Given the description of an element on the screen output the (x, y) to click on. 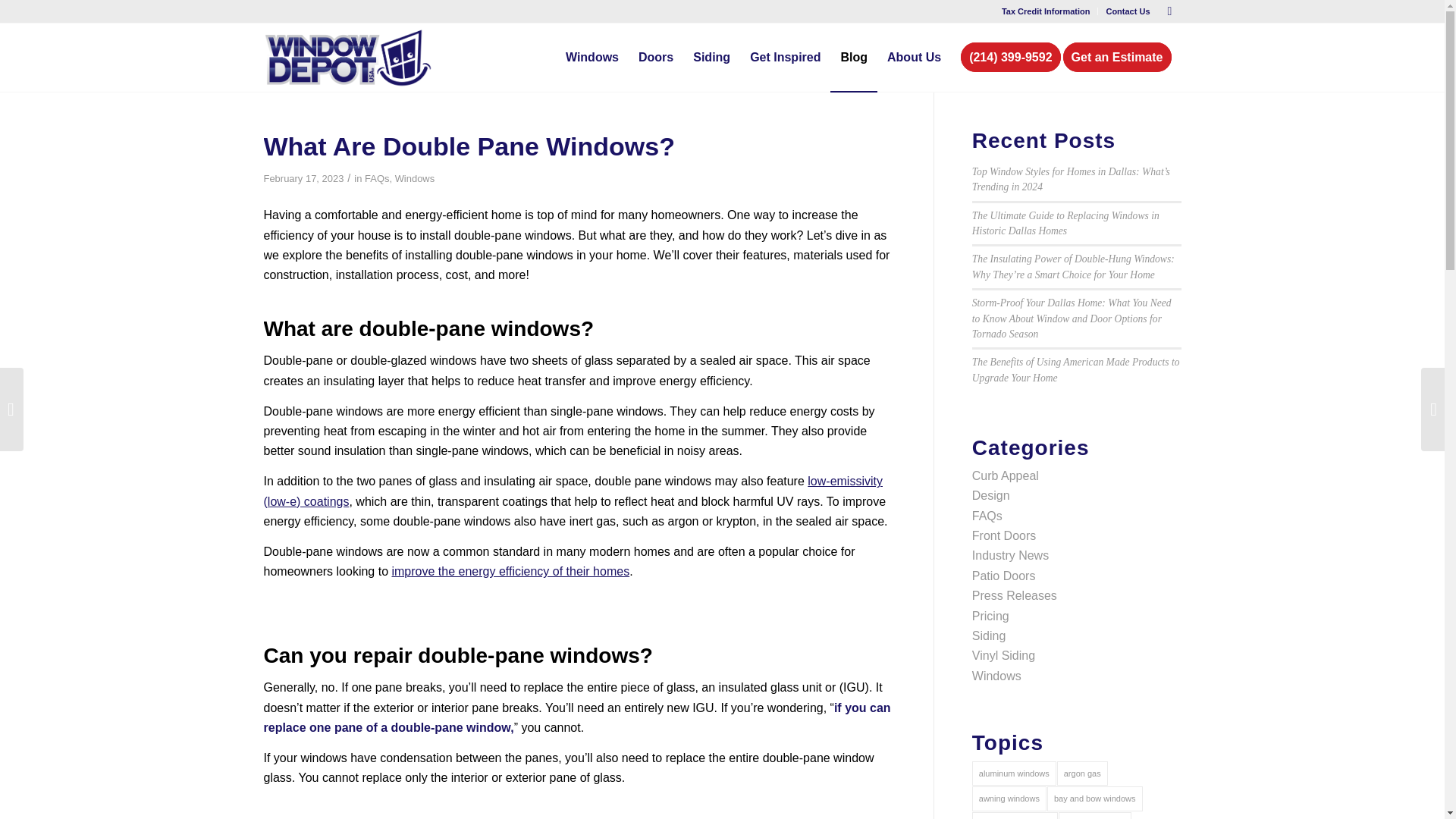
Windows (592, 57)
Contact Us (1127, 11)
Tax Credit Information (1045, 11)
FAQs (376, 178)
Get Inspired (784, 57)
About Us (913, 57)
improve the energy efficiency of their homes (509, 571)
Get an Estimate (1121, 57)
Facebook (1169, 11)
